Given the description of an element on the screen output the (x, y) to click on. 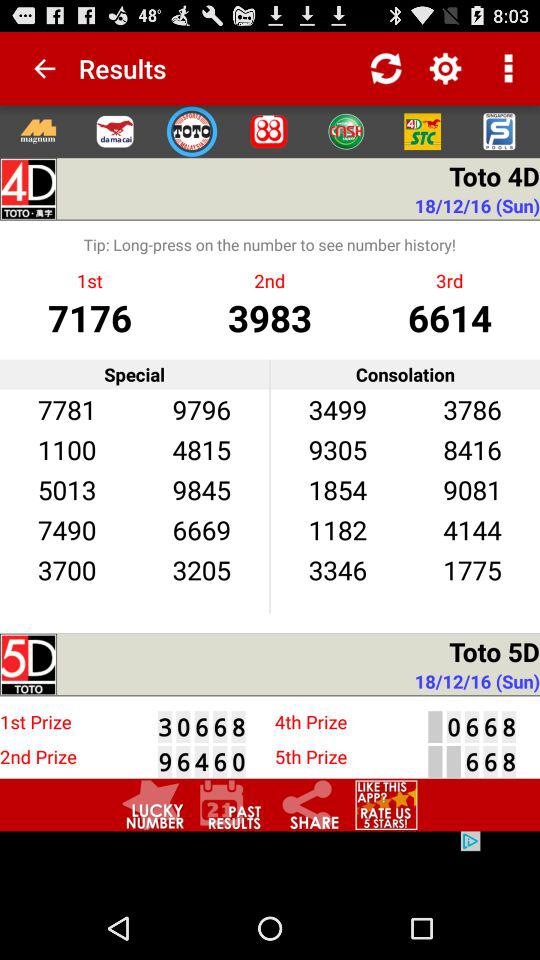
stc (422, 131)
